Given the description of an element on the screen output the (x, y) to click on. 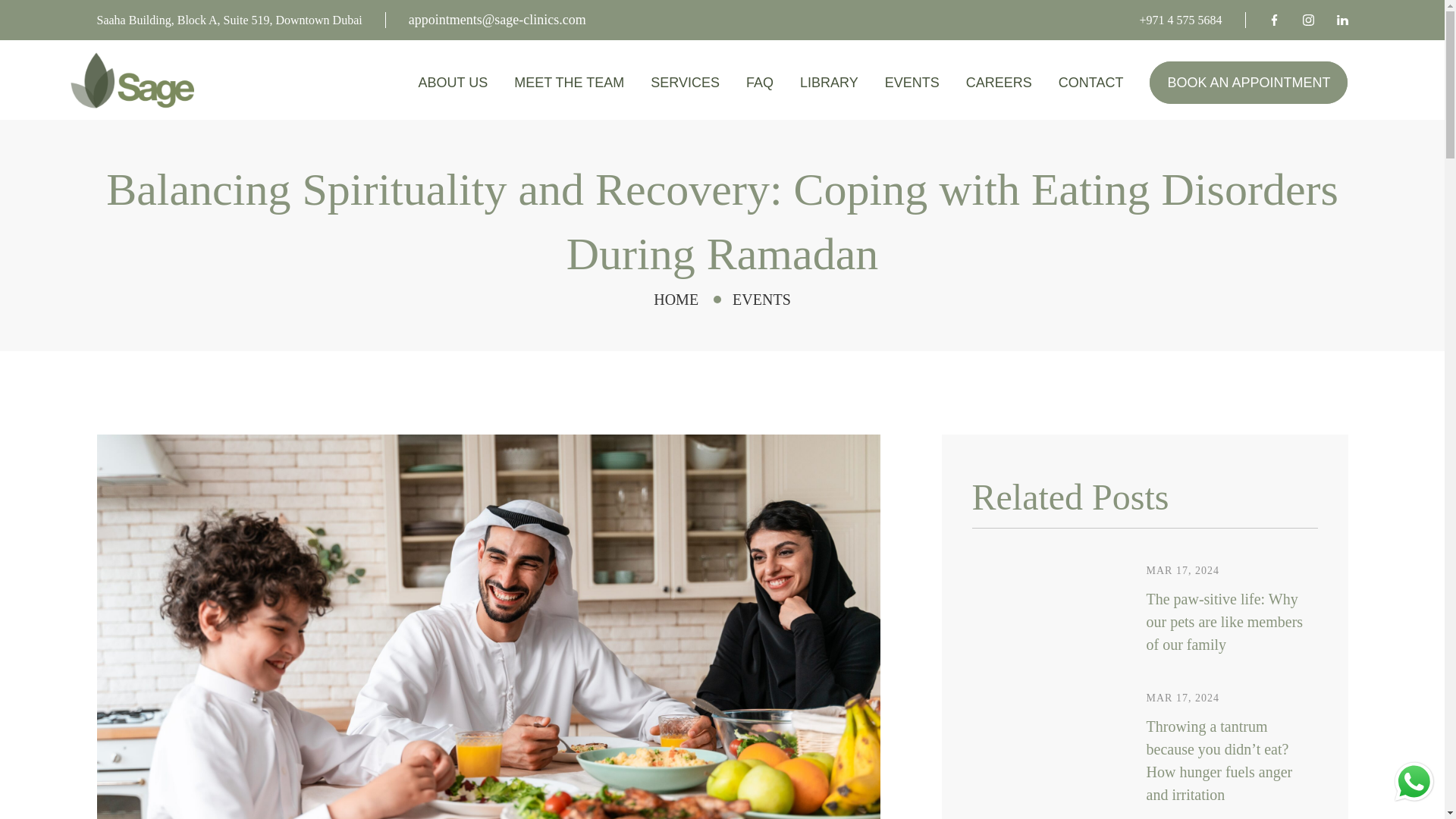
EVENTS (912, 84)
CONTACT (1091, 84)
BOOK AN APPOINTMENT (1249, 82)
CAREERS (999, 84)
LIBRARY (829, 84)
MEET THE TEAM (568, 84)
SERVICES (684, 84)
EVENTS (761, 299)
HOME (675, 299)
ABOUT US (453, 84)
FAQ (759, 84)
